Given the description of an element on the screen output the (x, y) to click on. 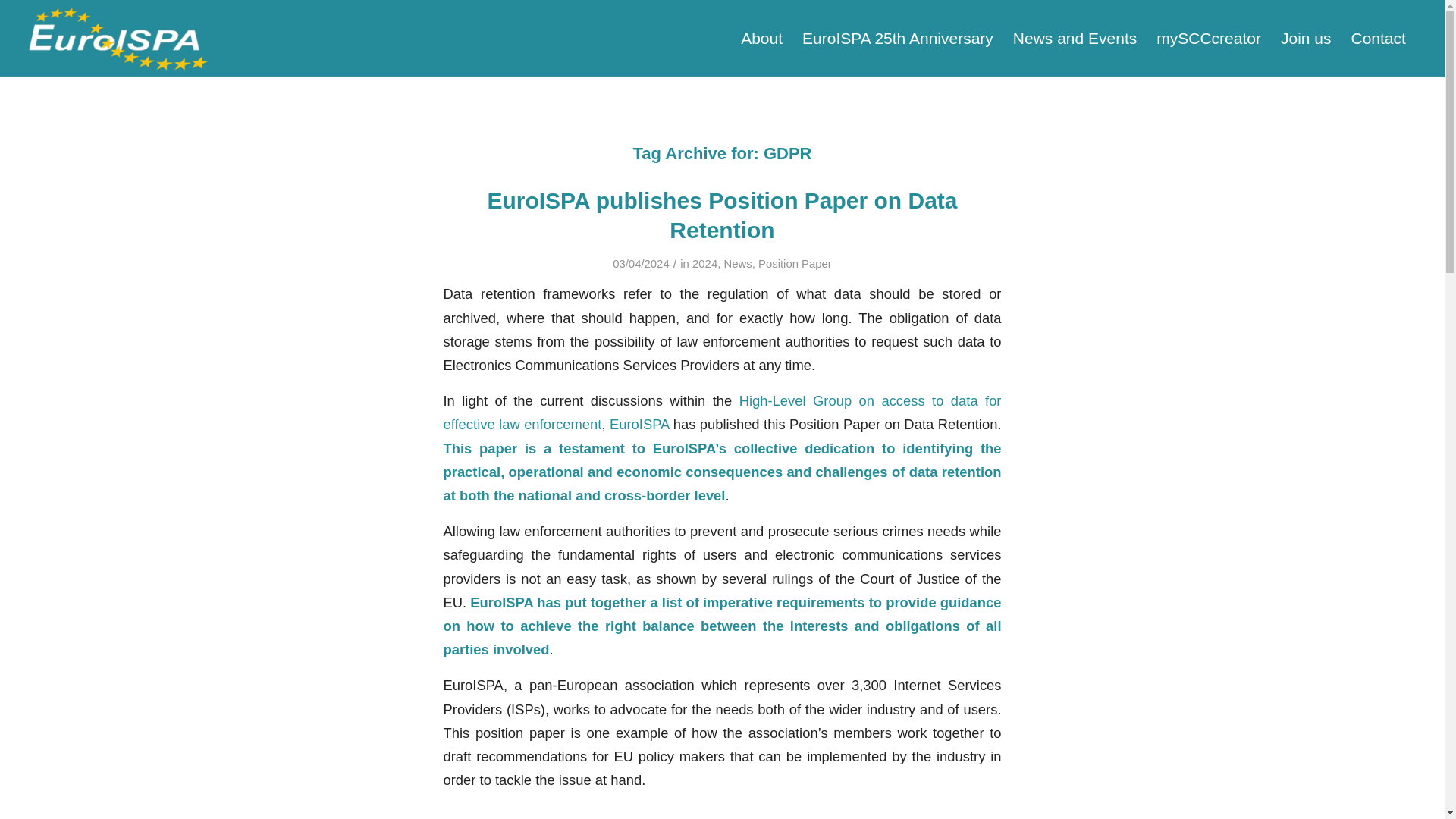
Join us (1305, 38)
Position Paper (794, 263)
News (737, 263)
Contact (1377, 38)
News and Events (1075, 38)
EuroISPA (639, 424)
EuroISPA publishes Position Paper on Data Retention (721, 215)
mySCCcreator (1209, 38)
2024 (705, 263)
EuroISPA 25th Anniversary (897, 38)
